Given the description of an element on the screen output the (x, y) to click on. 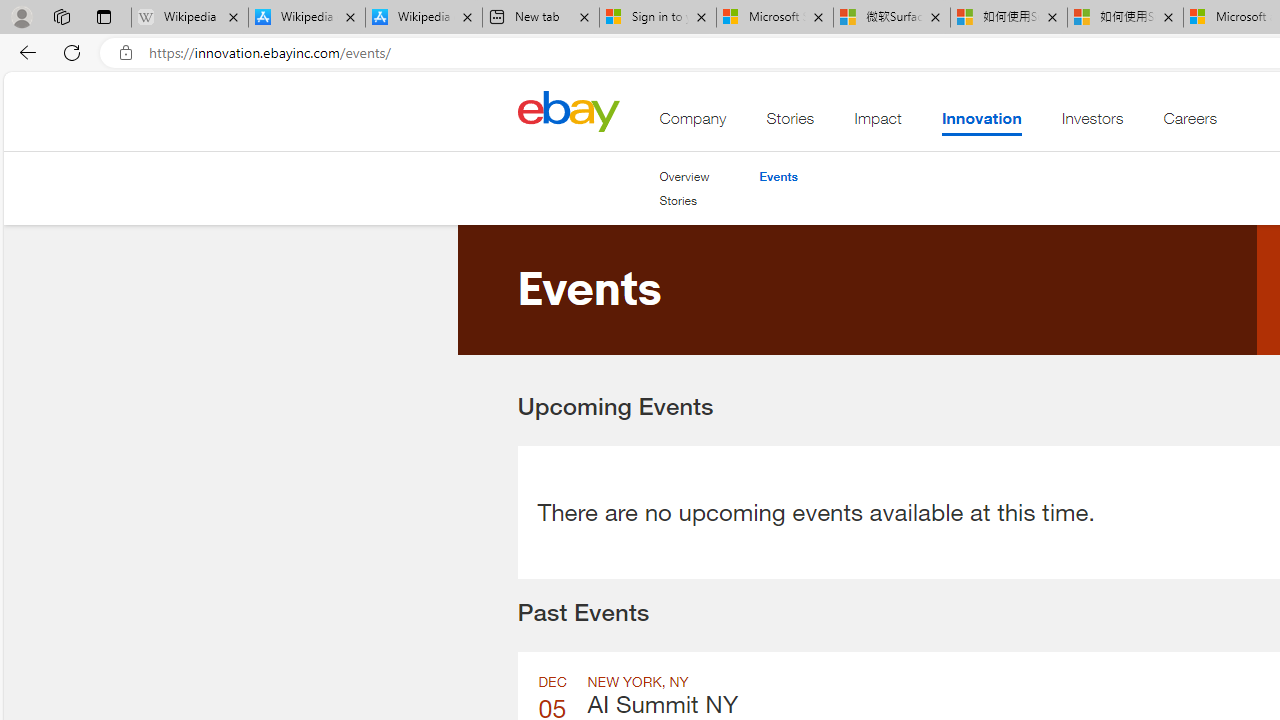
Overview (684, 176)
Events (778, 176)
Impact (877, 123)
Careers (1190, 123)
Class: desktop (568, 110)
Overview (684, 176)
Stories (678, 200)
